Given the description of an element on the screen output the (x, y) to click on. 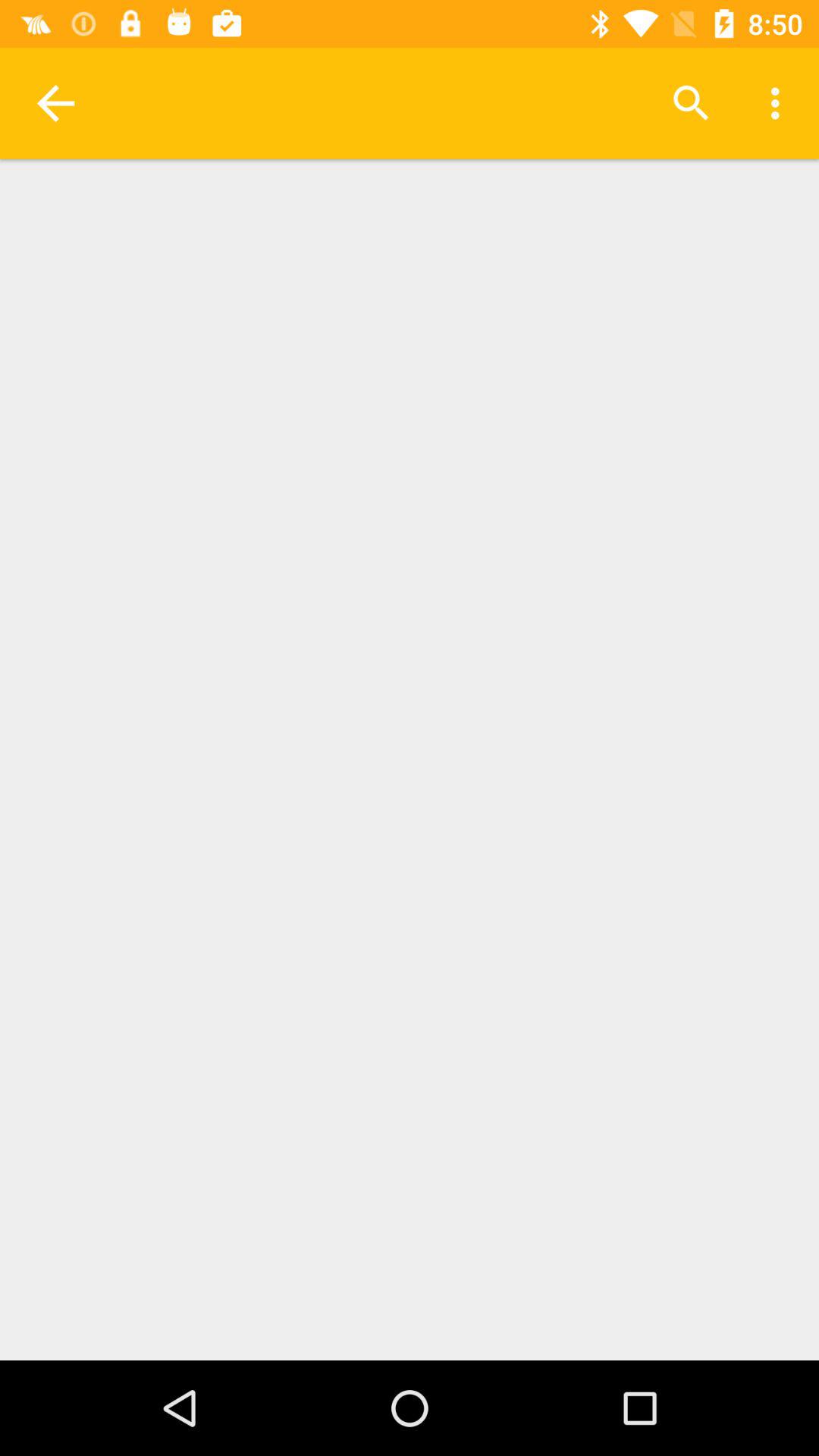
choose the icon at the top left corner (55, 103)
